Given the description of an element on the screen output the (x, y) to click on. 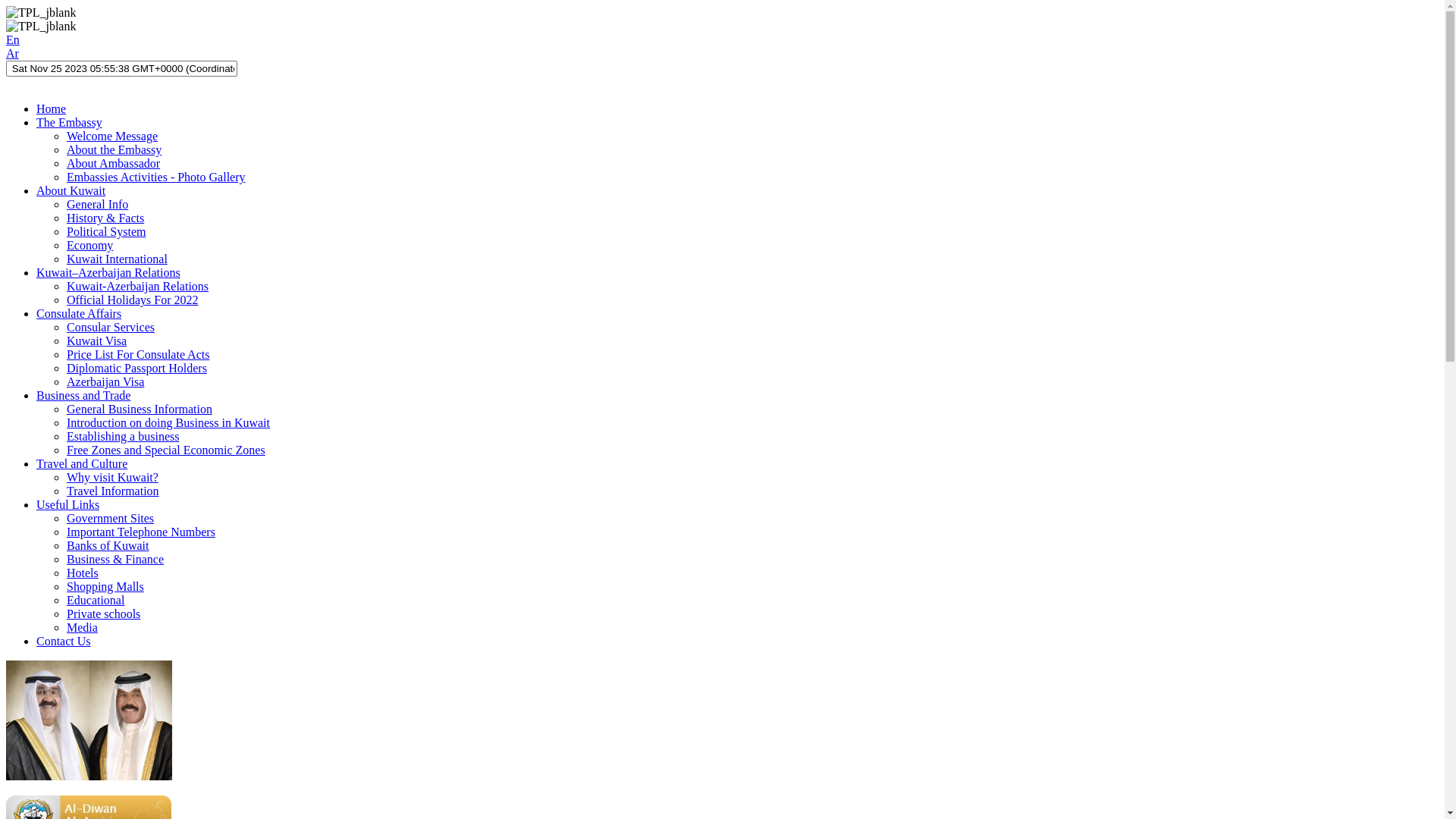
Embassies Activities - Photo Gallery Element type: text (155, 176)
Travel Information Element type: text (112, 490)
Free Zones and Special Economic Zones Element type: text (165, 449)
Media Element type: text (81, 627)
General Business Information Element type: text (139, 408)
Ar Element type: text (12, 53)
Useful Links Element type: text (67, 504)
Home Element type: text (50, 108)
Hotels Element type: text (82, 572)
Azerbaijan Visa Element type: text (105, 381)
About the Embassy Element type: text (113, 149)
Diplomatic Passport Holders Element type: text (136, 367)
Government Sites Element type: text (109, 517)
Shopping Malls Element type: text (105, 586)
Business & Finance Element type: text (114, 558)
Consular Services Element type: text (110, 326)
Official Holidays For 2022 Element type: text (131, 299)
Why visit Kuwait? Element type: text (112, 476)
Kuwait Visa Element type: text (96, 340)
Price List For Consulate Acts Element type: text (137, 354)
Kuwait-Azerbaijan Relations Element type: text (137, 285)
Travel and Culture Element type: text (81, 463)
Consulate Affairs Element type: text (78, 313)
The Embassy Element type: text (69, 122)
Kuwait International Element type: text (116, 258)
Important Telephone Numbers Element type: text (140, 531)
Banks of Kuwait Element type: text (107, 545)
En Element type: text (12, 39)
Introduction on doing Business in Kuwait Element type: text (167, 422)
Establishing a business Element type: text (122, 435)
Business and Trade Element type: text (83, 395)
Political System Element type: text (105, 231)
Educational Element type: text (95, 599)
General Info Element type: text (97, 203)
History & Facts Element type: text (105, 217)
About Kuwait Element type: text (70, 190)
Welcome Message Element type: text (111, 135)
Private schools Element type: text (103, 613)
Contact Us Element type: text (63, 640)
About Ambassador Element type: text (113, 162)
Economy Element type: text (89, 244)
